Given the description of an element on the screen output the (x, y) to click on. 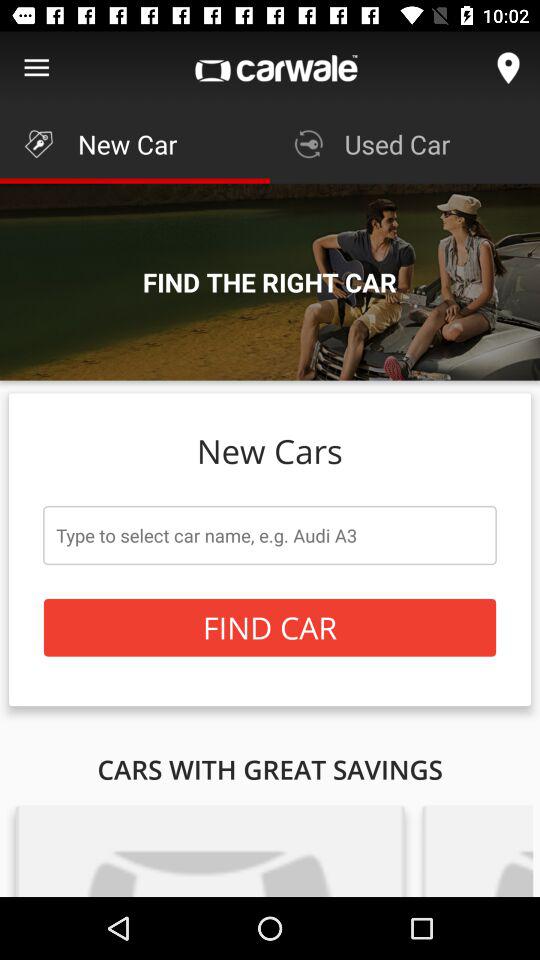
instead of three line symbol it can be menu option (36, 68)
